Given the description of an element on the screen output the (x, y) to click on. 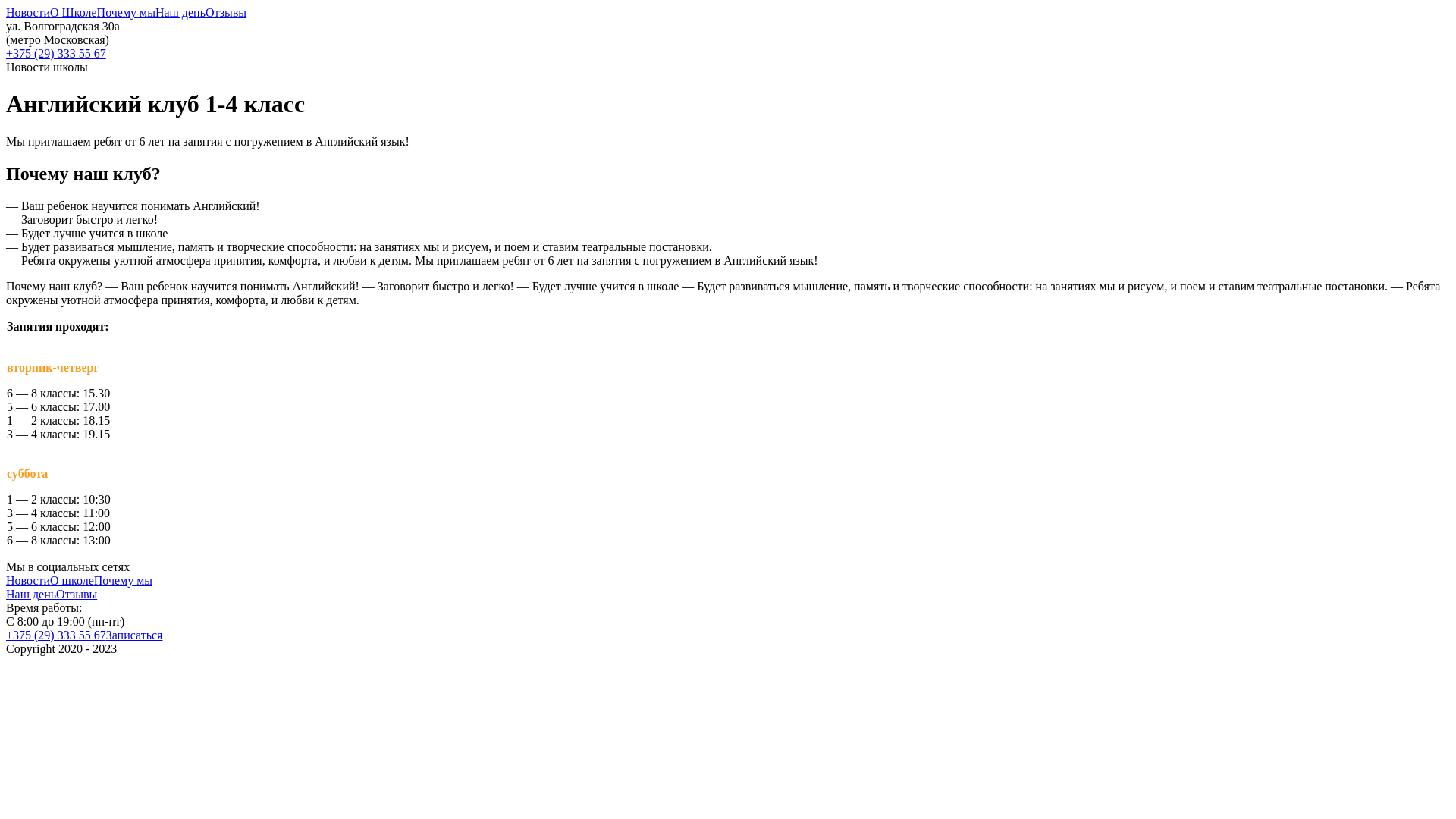
+375 (29) 333 55 67 Element type: text (727, 53)
+375 (29) 333 55 67 Element type: text (56, 634)
